Given the description of an element on the screen output the (x, y) to click on. 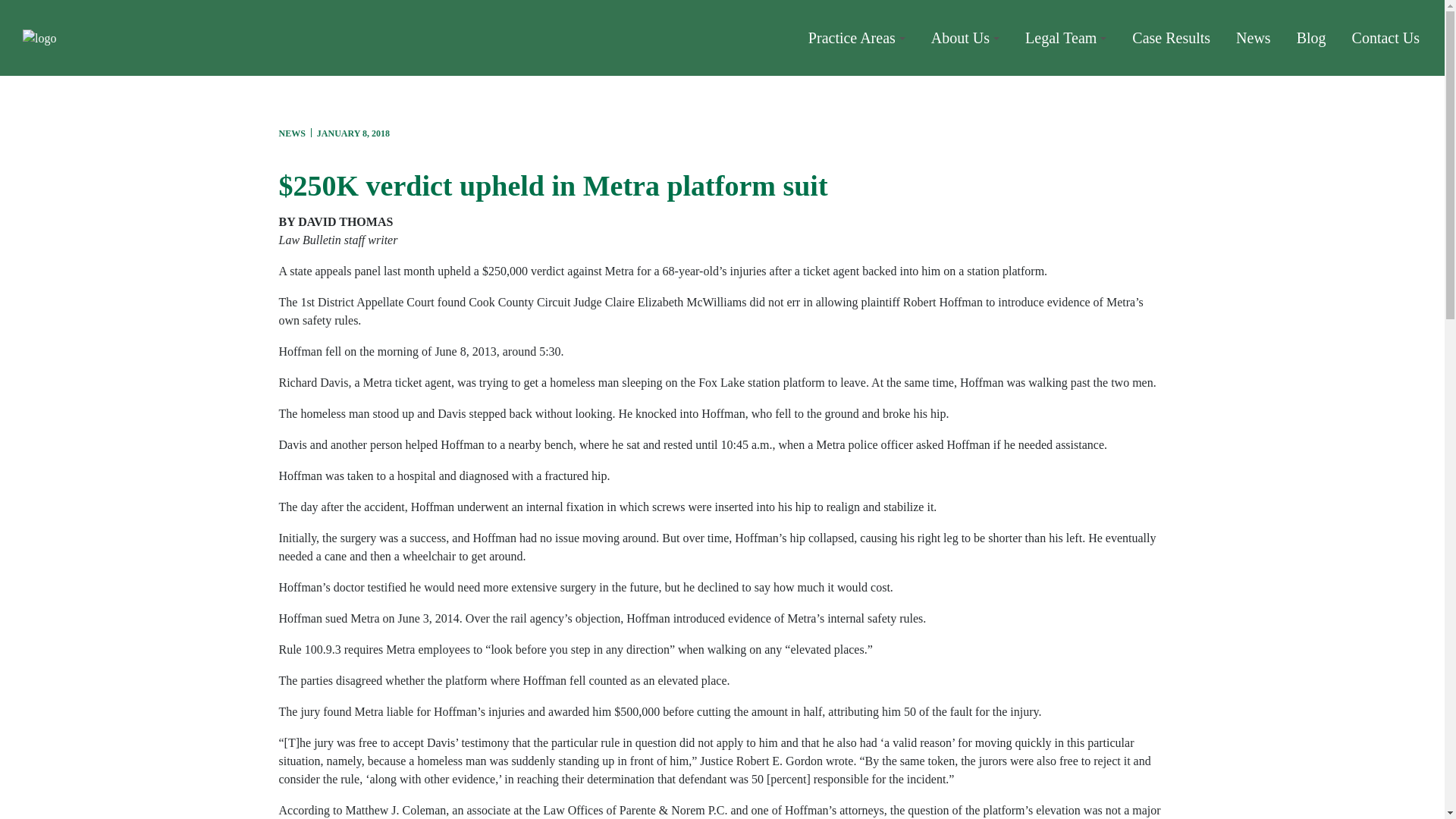
Practice Areas (856, 38)
About Us (965, 38)
Case Results (1171, 38)
Contact Us (1385, 38)
Legal Team (1065, 38)
